Given the description of an element on the screen output the (x, y) to click on. 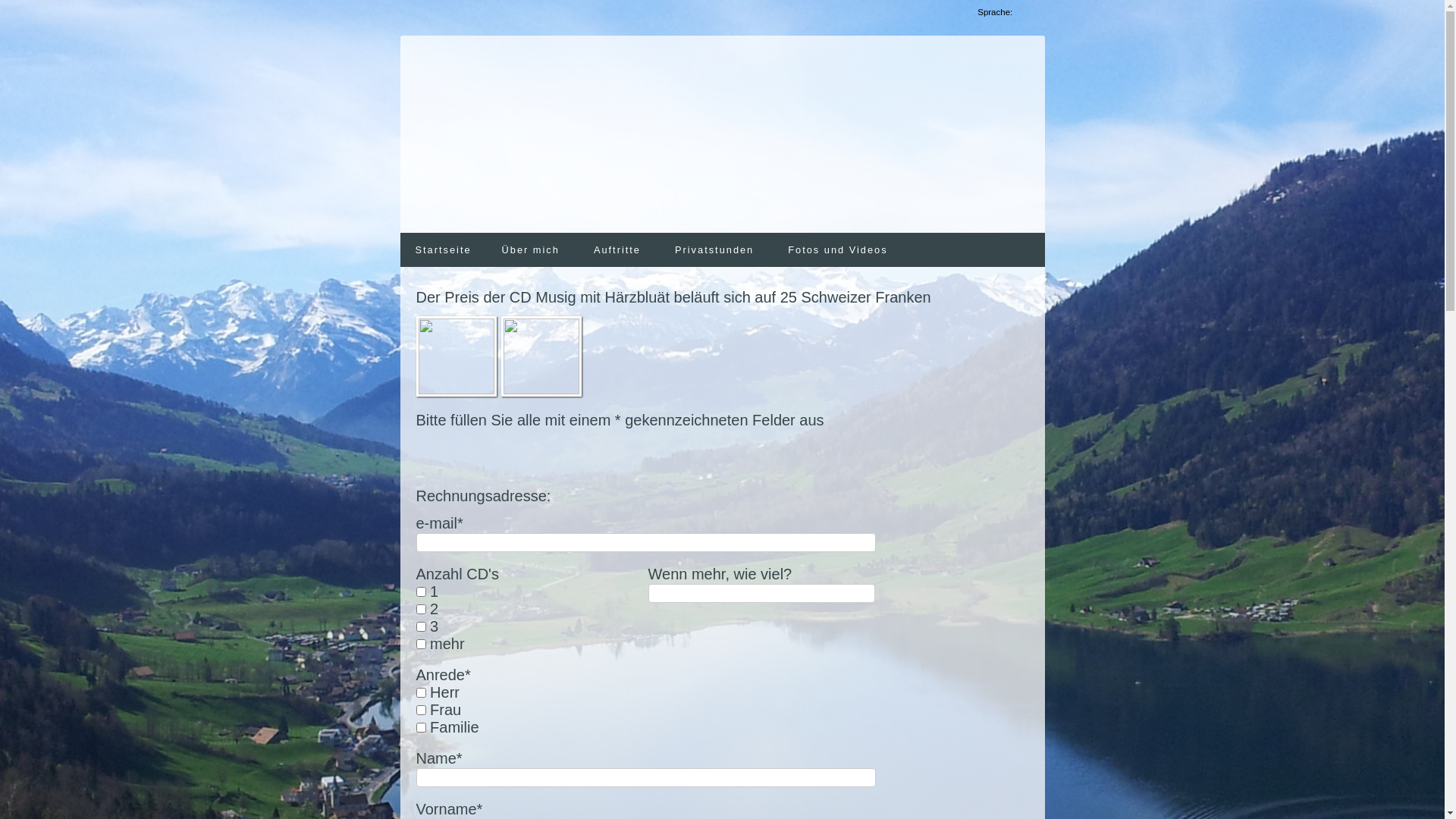
Deutsch Element type: text (1025, 12)
Startseite Element type: text (443, 249)
Auftritte Element type: text (618, 249)
Privatstunden Element type: text (715, 249)
Fotos und Videos Element type: text (839, 249)
